Given the description of an element on the screen output the (x, y) to click on. 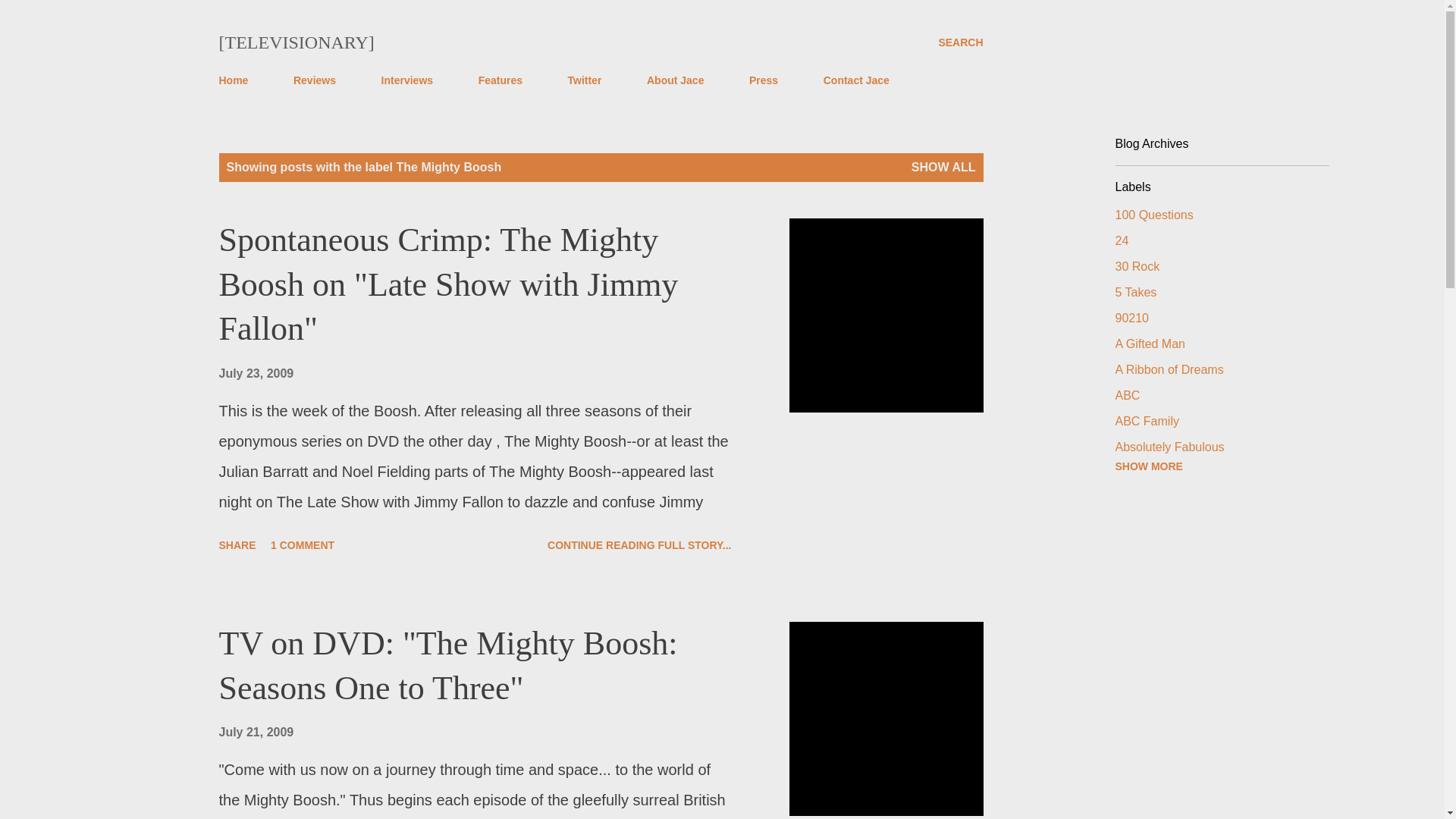
SHOW ALL (943, 167)
Reviews (314, 80)
SHARE (237, 545)
July 23, 2009 (256, 373)
Home (237, 80)
1 COMMENT (302, 545)
permanent link (256, 731)
permanent link (256, 373)
Press (763, 80)
